Given the description of an element on the screen output the (x, y) to click on. 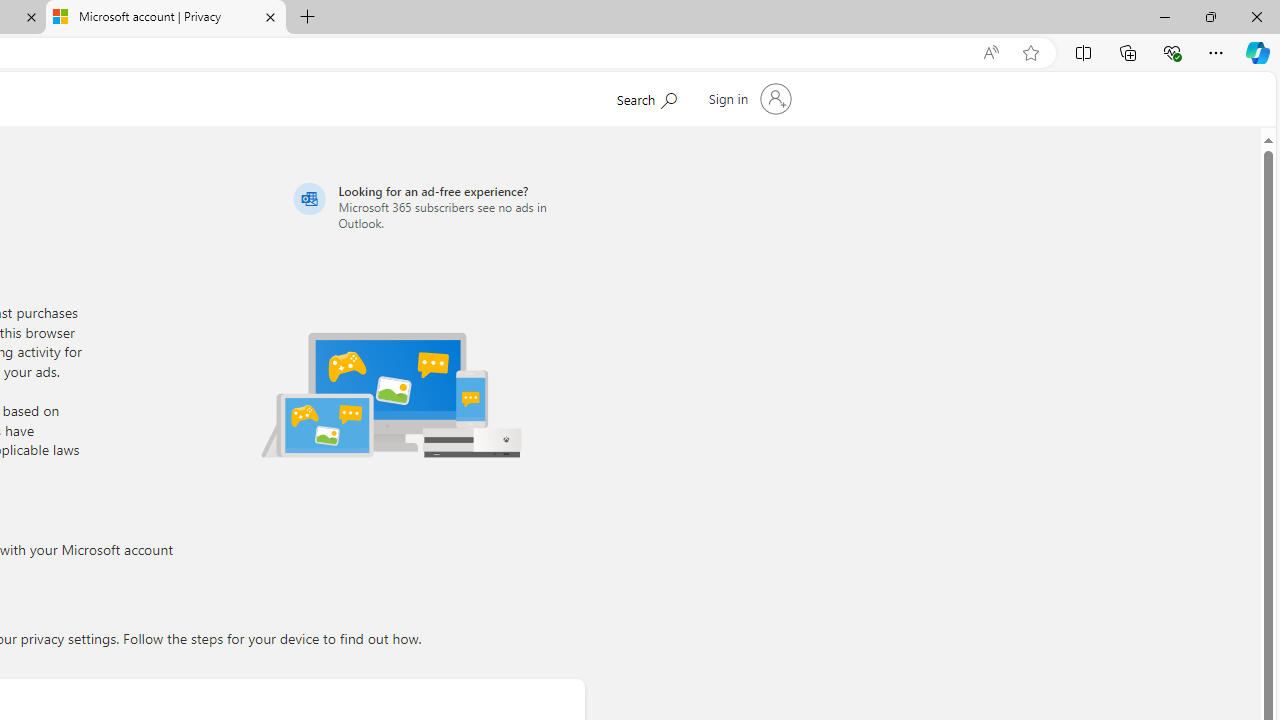
Collections (1128, 52)
New Tab (308, 17)
Microsoft account | Privacy (166, 17)
Minimize (1164, 16)
Looking for an ad-free experience? (436, 206)
Close tab (270, 16)
Search Microsoft.com (646, 97)
Sign in to your account (748, 98)
Close (1256, 16)
Read aloud this page (Ctrl+Shift+U) (991, 53)
Split screen (1083, 52)
Settings and more (Alt+F) (1215, 52)
Copilot (Ctrl+Shift+.) (1258, 52)
Illustration of multiple devices (391, 394)
Add this page to favorites (Ctrl+D) (1030, 53)
